Given the description of an element on the screen output the (x, y) to click on. 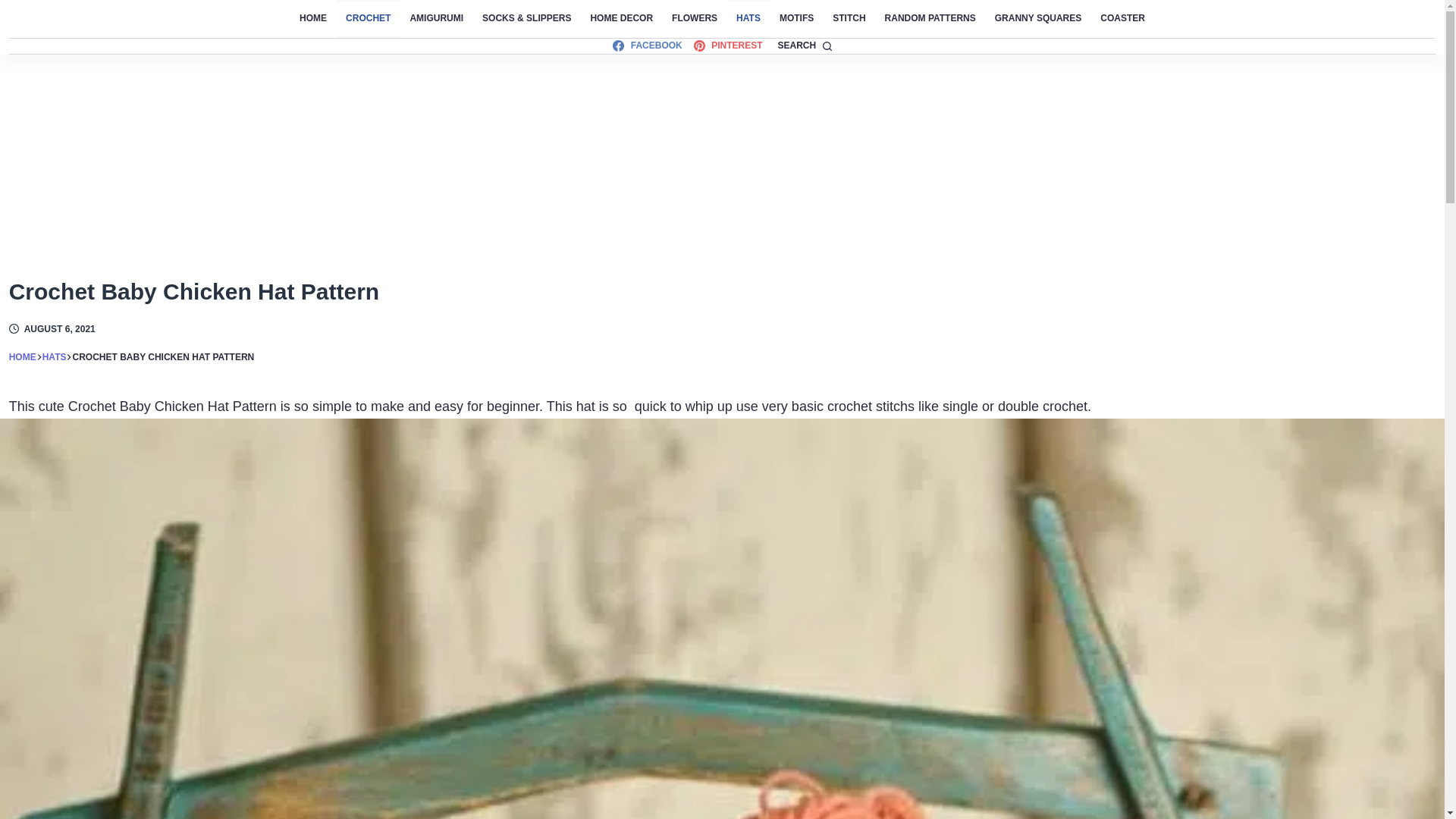
HOME DECOR (621, 18)
COASTER (1122, 18)
STITCH (849, 18)
AMIGURUMI (436, 18)
Crochet Baby Chicken Hat Pattern (721, 291)
FACEBOOK (646, 46)
HOME (22, 357)
RANDOM PATTERNS (930, 18)
HATS (54, 357)
HOME (312, 18)
SEARCH (804, 46)
MOTIFS (796, 18)
HATS (748, 18)
CROCHET (368, 18)
Skip to content (15, 7)
